Given the description of an element on the screen output the (x, y) to click on. 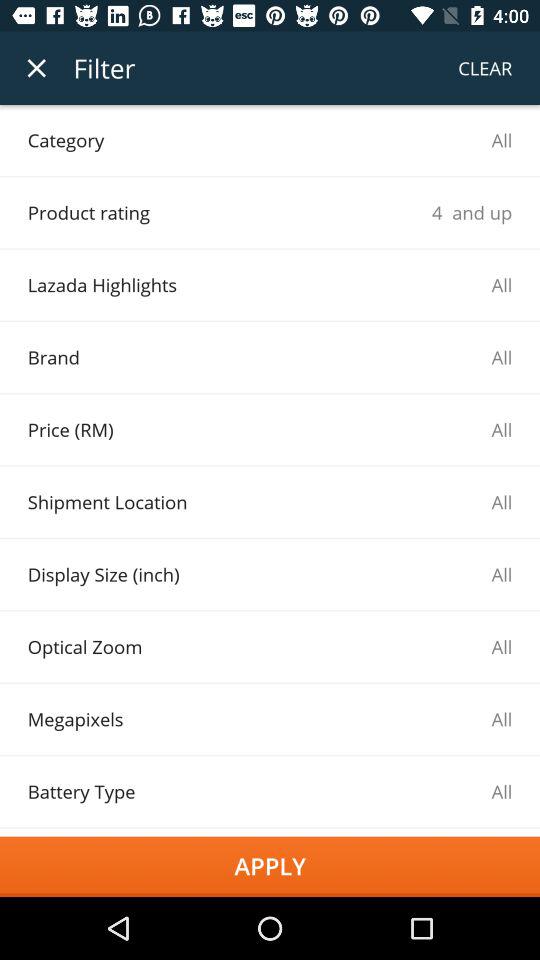
turn off the item next to the filter item (485, 68)
